Given the description of an element on the screen output the (x, y) to click on. 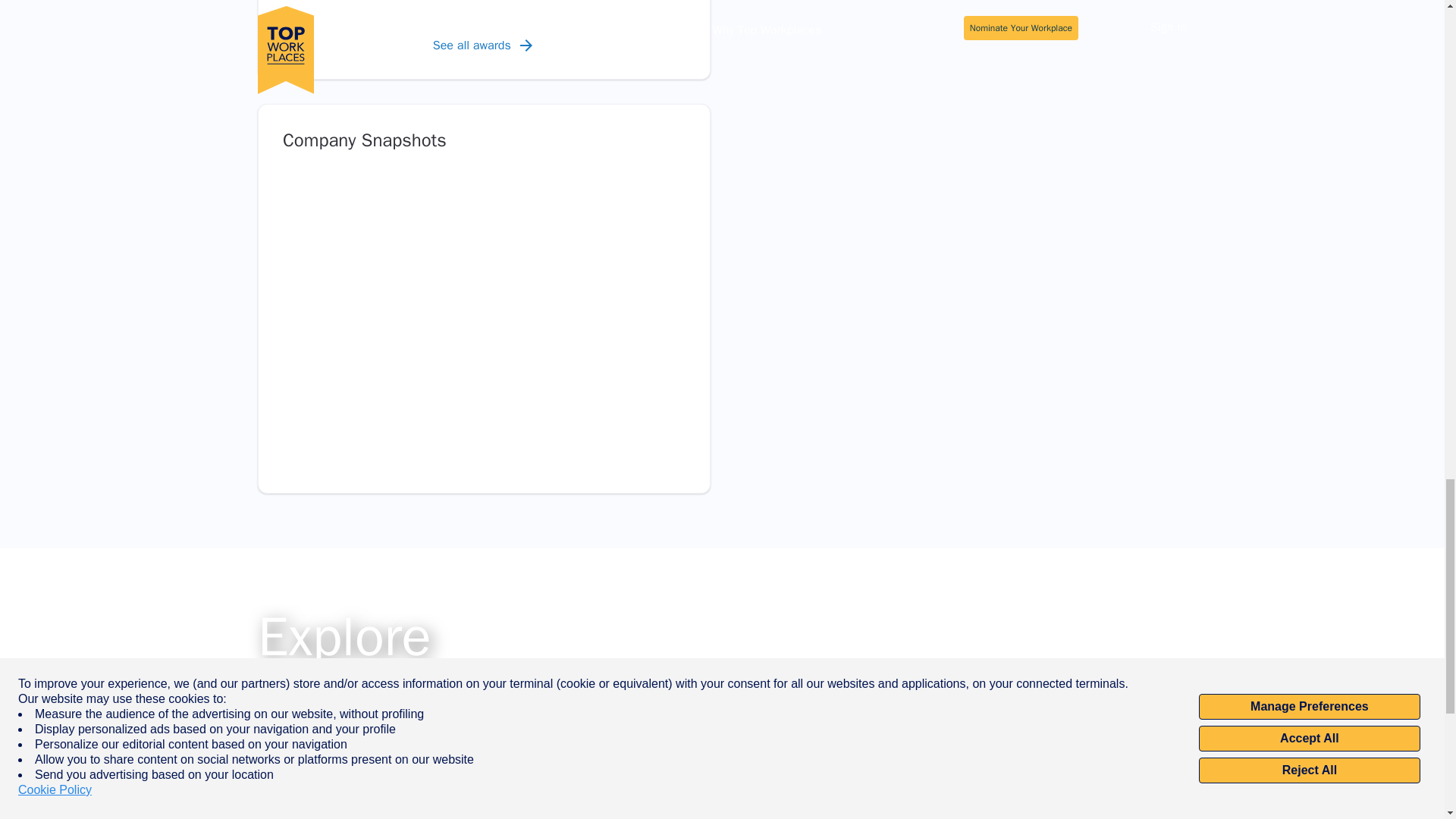
See all awards (483, 45)
